Given the description of an element on the screen output the (x, y) to click on. 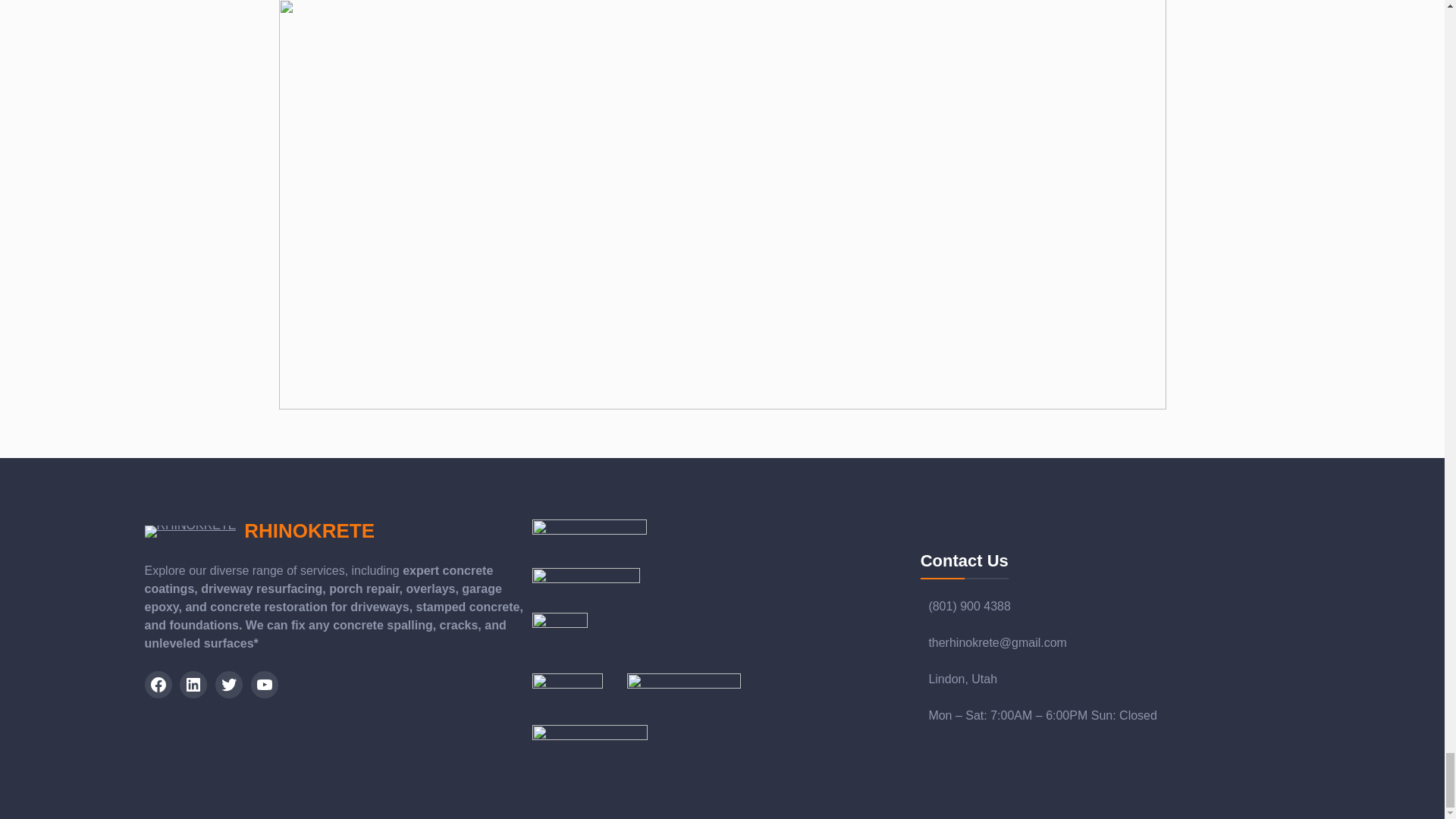
LinkedIn (192, 684)
Twitter (229, 684)
Facebook (157, 684)
RHINOKRETE (309, 530)
YouTube (264, 684)
